Given the description of an element on the screen output the (x, y) to click on. 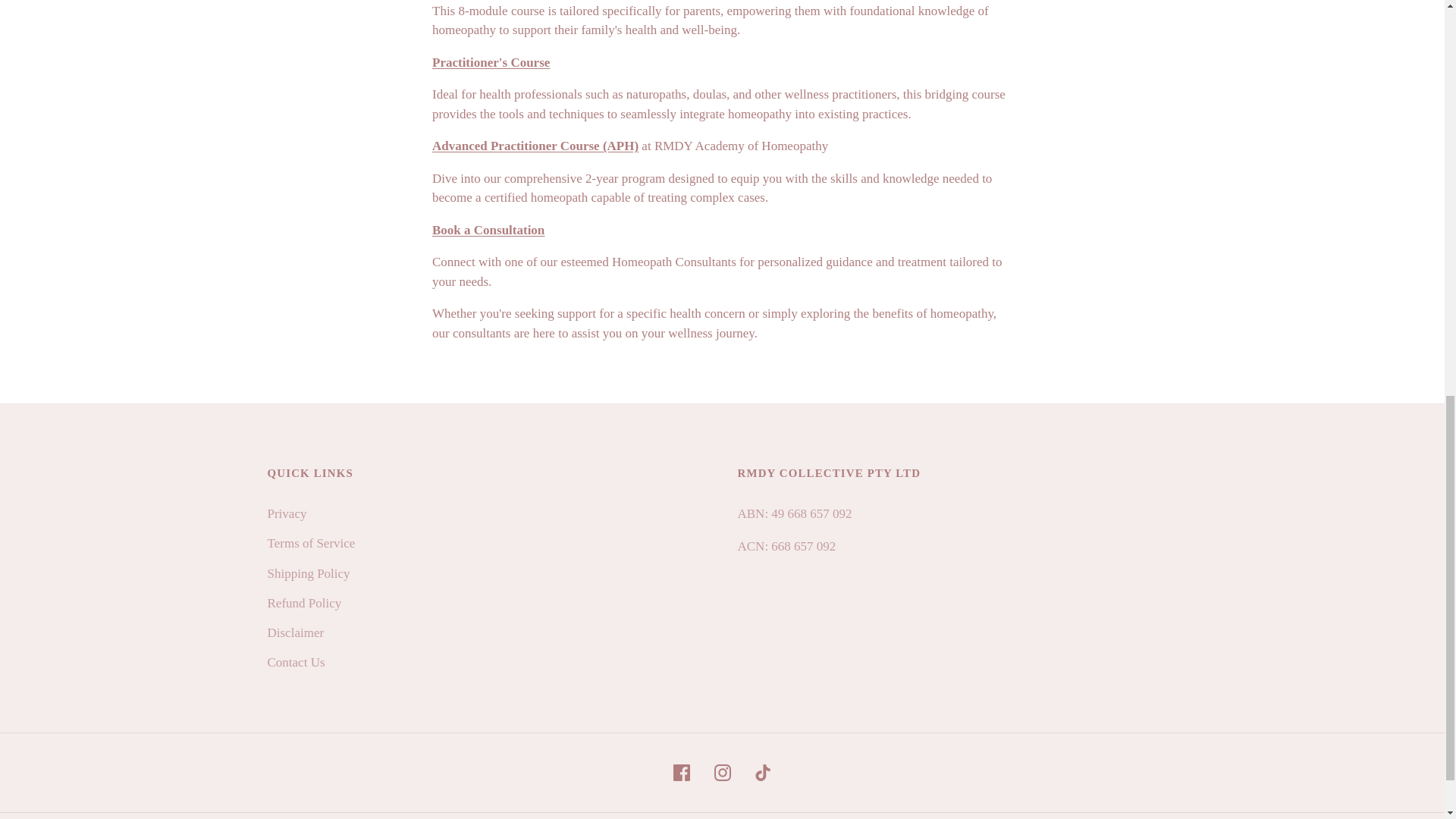
Privacy (285, 513)
Shipping Policy (307, 572)
Disclaimer (294, 632)
Our Directory (488, 229)
Book a Consultation (488, 229)
Terms of Service (310, 543)
Practitioner's Course (491, 62)
Contact Us (295, 662)
Refund Policy (303, 603)
A practitioners guide to homeopathy in practice (491, 62)
